Given the description of an element on the screen output the (x, y) to click on. 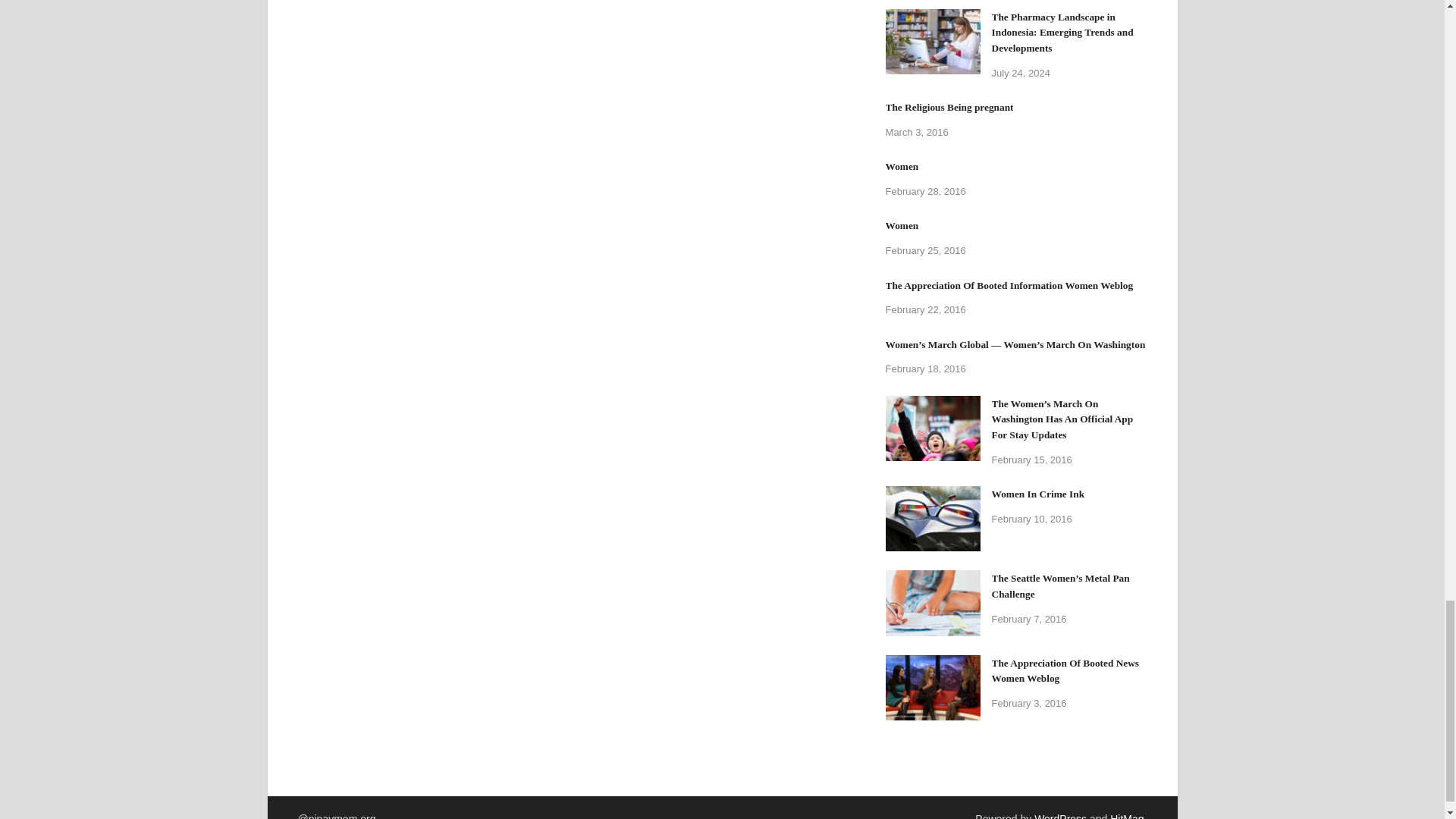
Women In Crime Ink (932, 495)
